Given the description of an element on the screen output the (x, y) to click on. 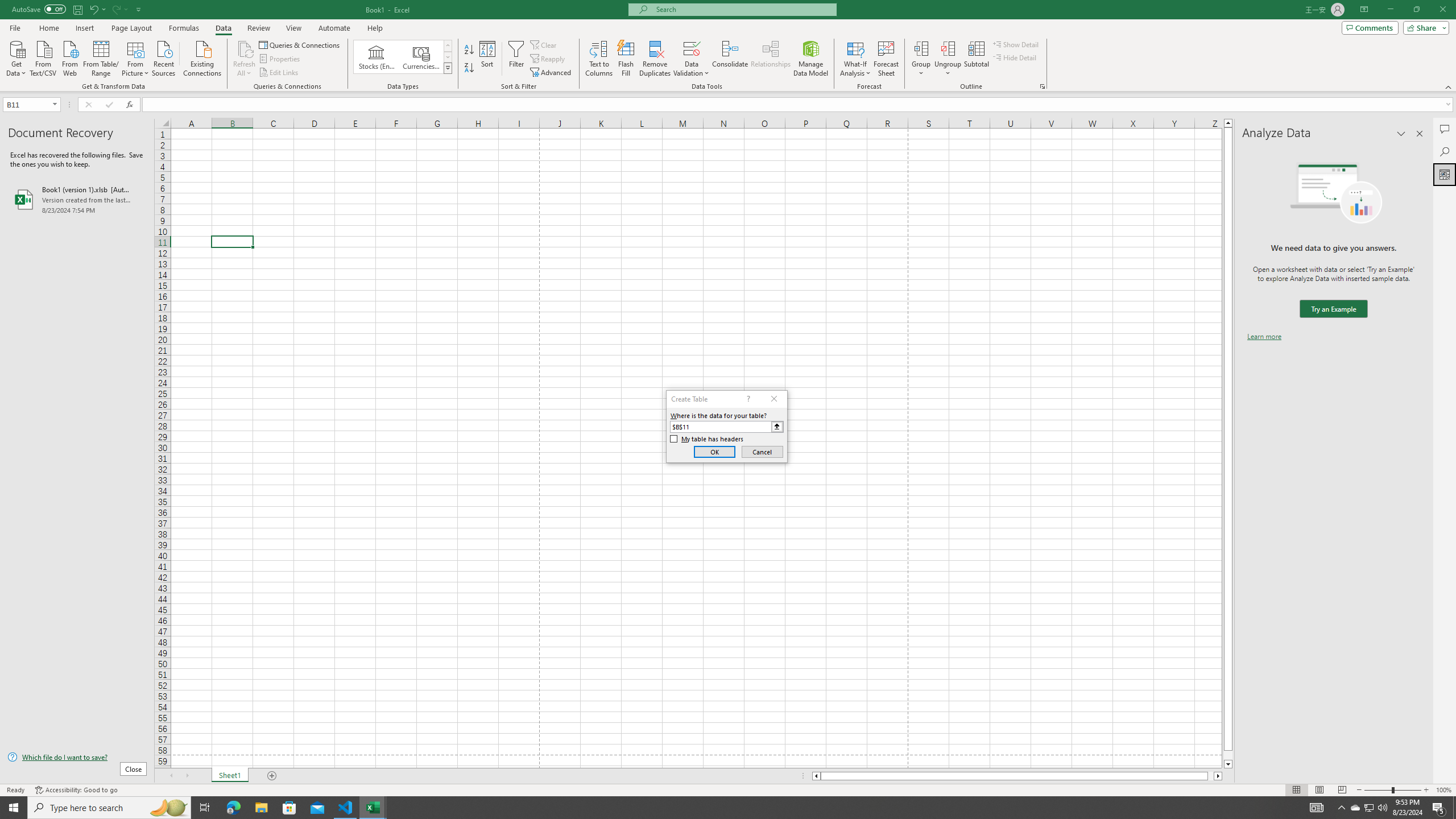
Class: MsoCommandBar (728, 45)
